Given the description of an element on the screen output the (x, y) to click on. 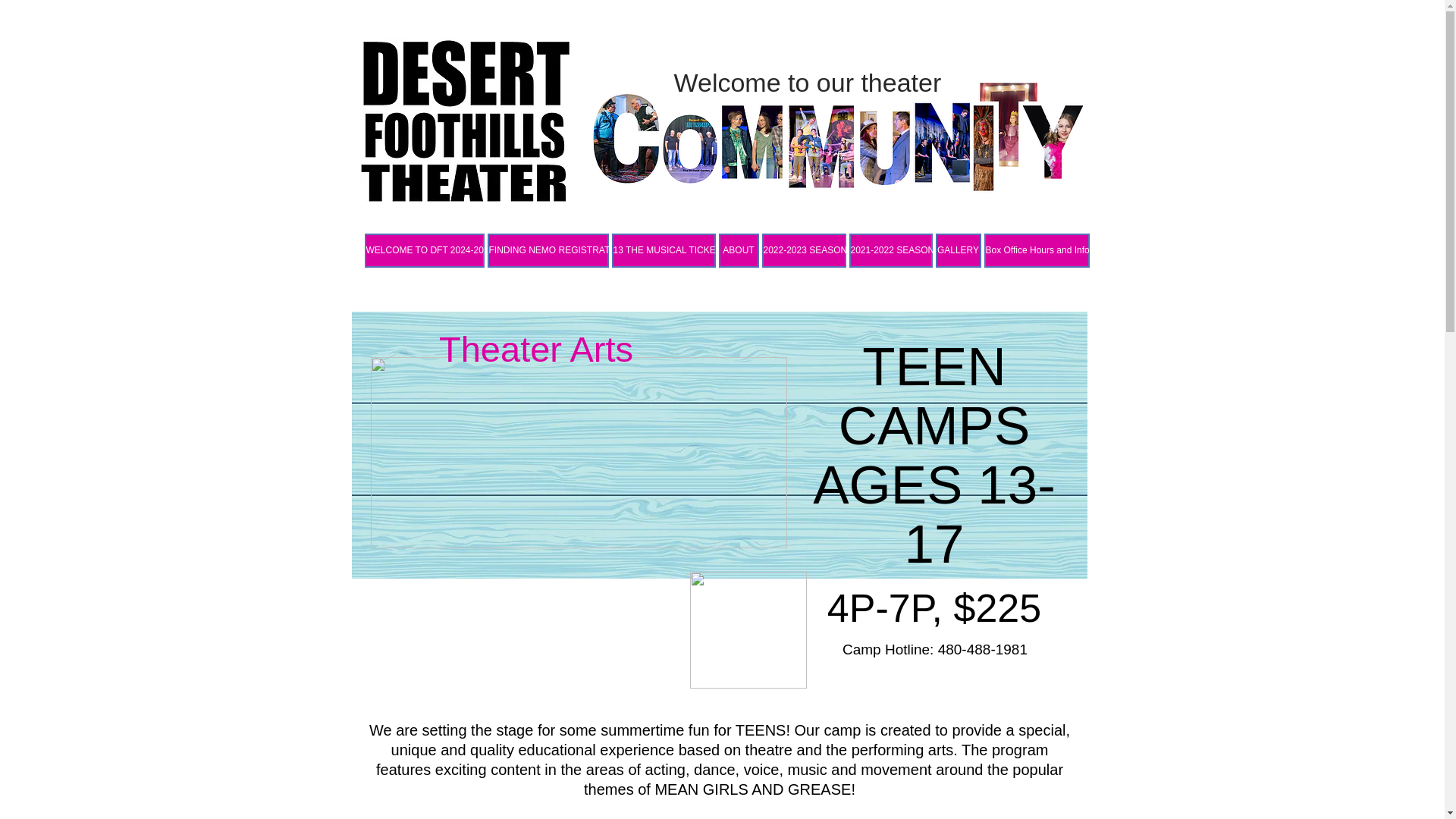
WELCOME TO DFT 2024-2025 (423, 250)
ABOUT (738, 250)
2022-2023 SEASON (803, 250)
FINDING NEMO REGISTRATION (547, 250)
Box Office Hours and Info (1036, 250)
GALLERY (958, 250)
2021-2022 SEASON (890, 250)
13 THE MUSICAL TICKETS (662, 250)
